Given the description of an element on the screen output the (x, y) to click on. 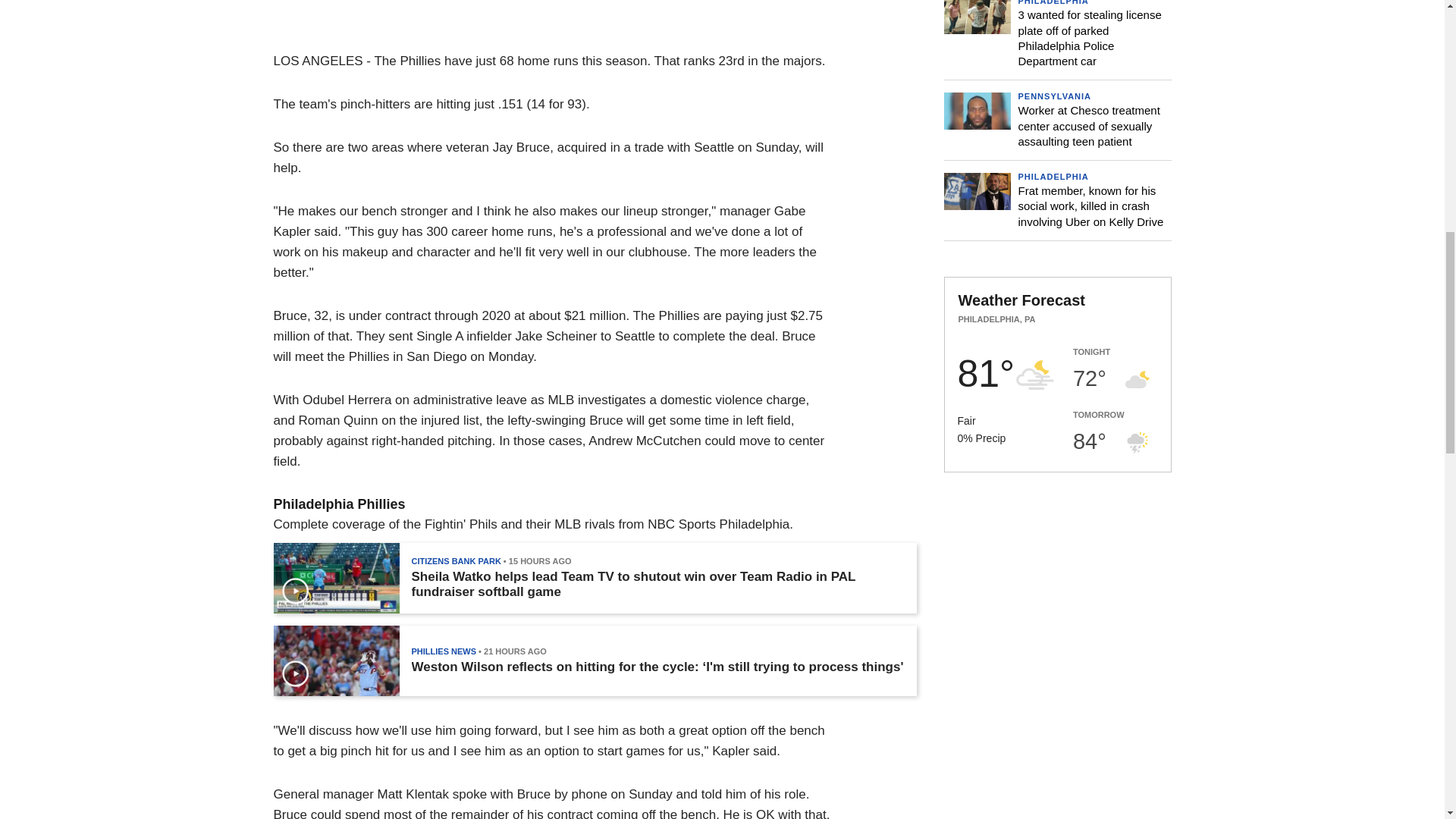
PHILLIES NEWS (443, 651)
CITIZENS BANK PARK (455, 560)
